Given the description of an element on the screen output the (x, y) to click on. 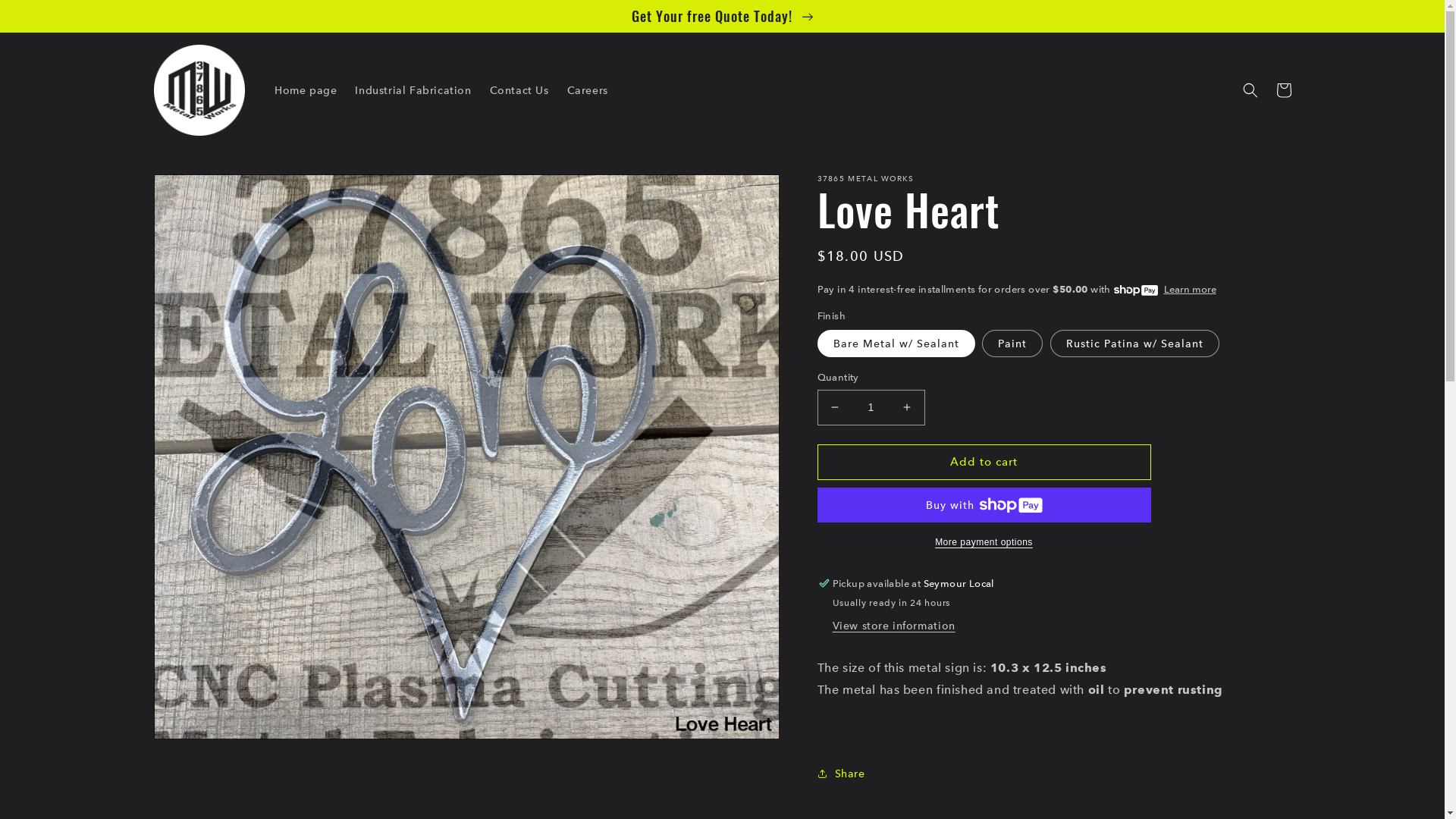
Home page Element type: text (305, 90)
Industrial Fabrication Element type: text (412, 90)
Add to cart Element type: text (984, 462)
Decrease quantity for Love Heart Element type: text (834, 407)
Contact Us Element type: text (519, 90)
More payment options Element type: text (984, 541)
Careers Element type: text (587, 90)
Cart Element type: text (1282, 89)
Increase quantity for Love Heart Element type: text (907, 407)
Skip to product information Element type: text (199, 191)
View store information Element type: text (893, 625)
Get Your free Quote Today! Element type: text (722, 15)
